Given the description of an element on the screen output the (x, y) to click on. 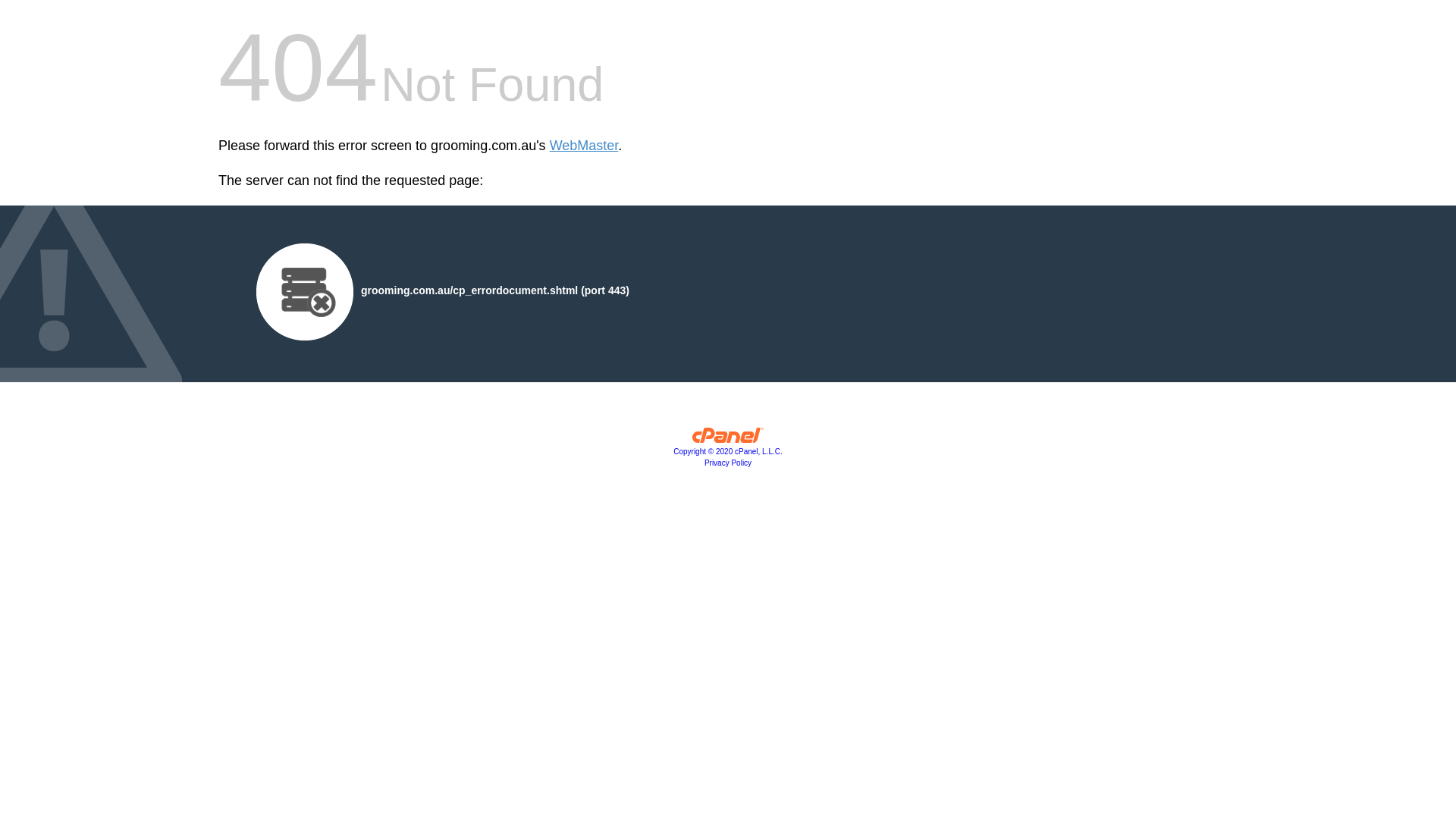
cPanel, Inc. Element type: hover (728, 439)
WebMaster Element type: text (583, 145)
Privacy Policy Element type: text (727, 462)
